Given the description of an element on the screen output the (x, y) to click on. 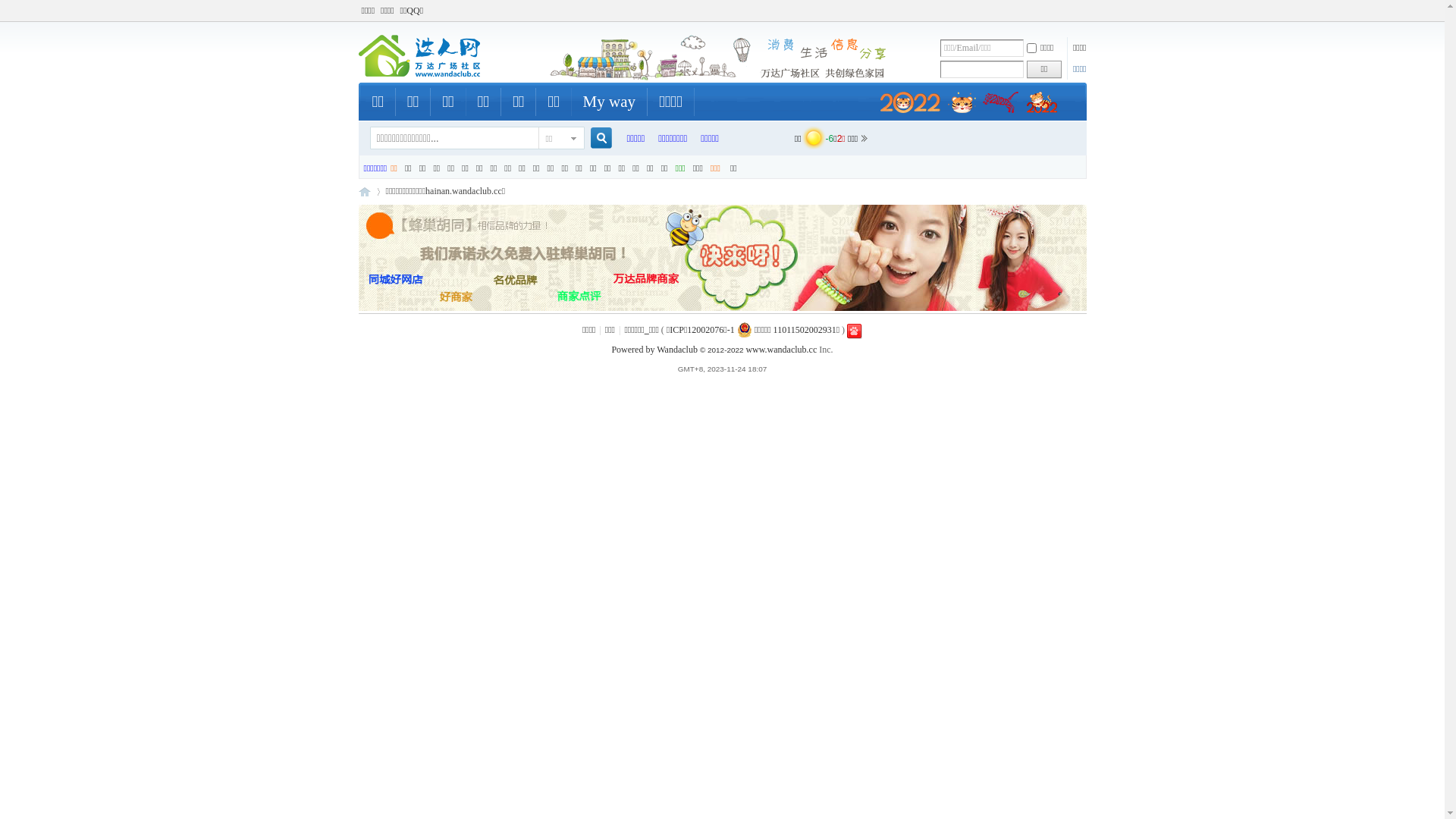
Powered by Element type: text (633, 349)
www.wandaclub.cc Element type: text (780, 349)
My way Element type: text (608, 101)
Wandaclub Element type: text (676, 349)
true Element type: text (594, 138)
